Given the description of an element on the screen output the (x, y) to click on. 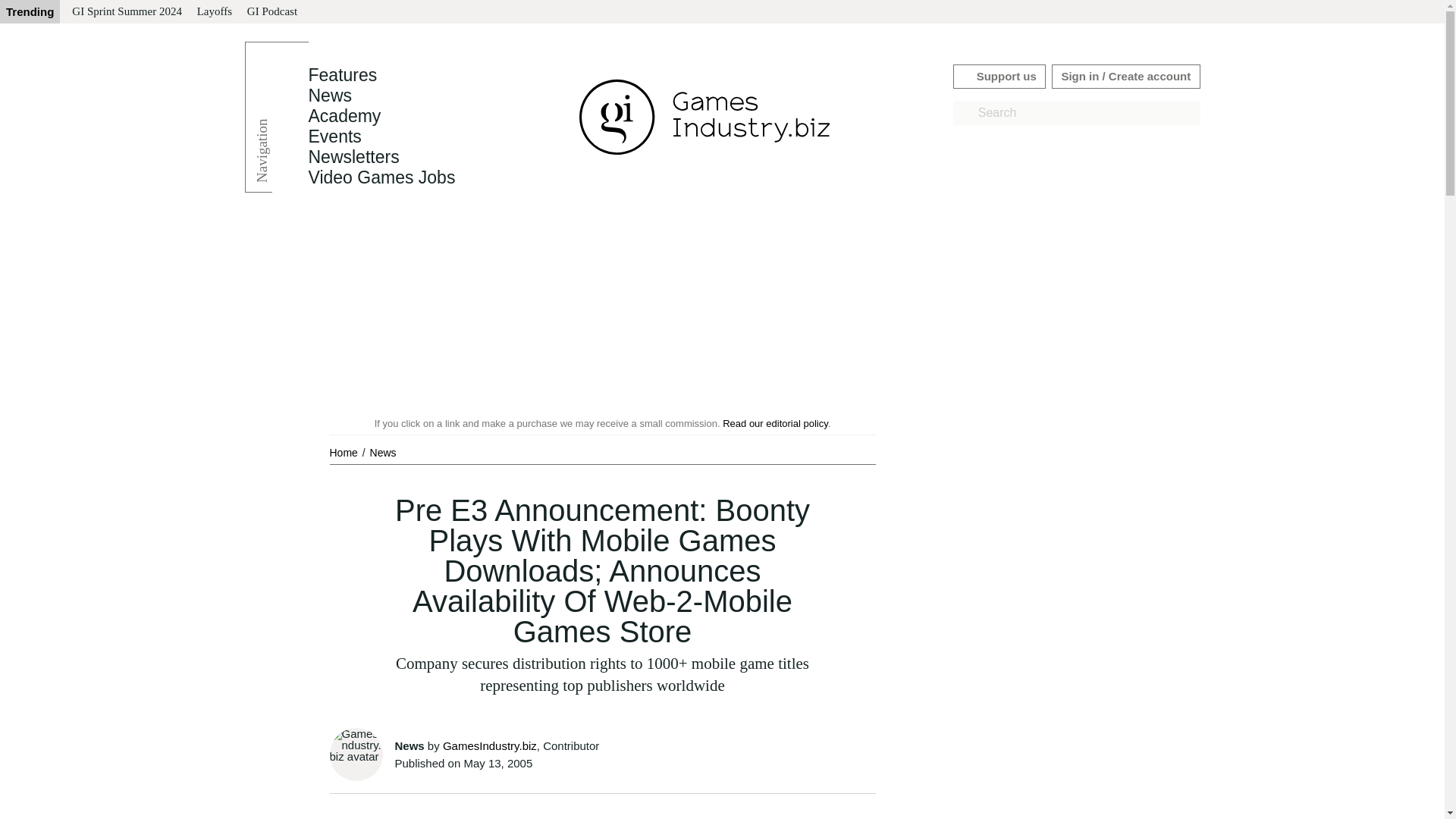
News (329, 95)
Read our editorial policy (775, 423)
Home (344, 452)
GI Sprint Summer 2024 (126, 11)
Events (334, 136)
Newsletters (352, 157)
Academy (343, 116)
Events (334, 136)
Features (342, 75)
GamesIndustry.biz (489, 745)
News (329, 95)
Layoffs (214, 11)
Academy (343, 116)
GI Podcast (271, 11)
Support us (999, 75)
